Given the description of an element on the screen output the (x, y) to click on. 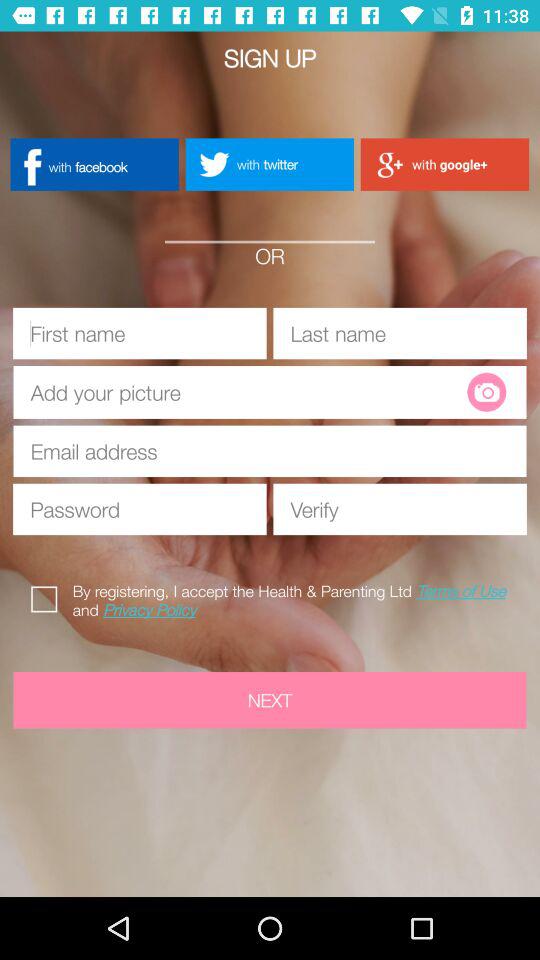
take or upload a photo (486, 392)
